Given the description of an element on the screen output the (x, y) to click on. 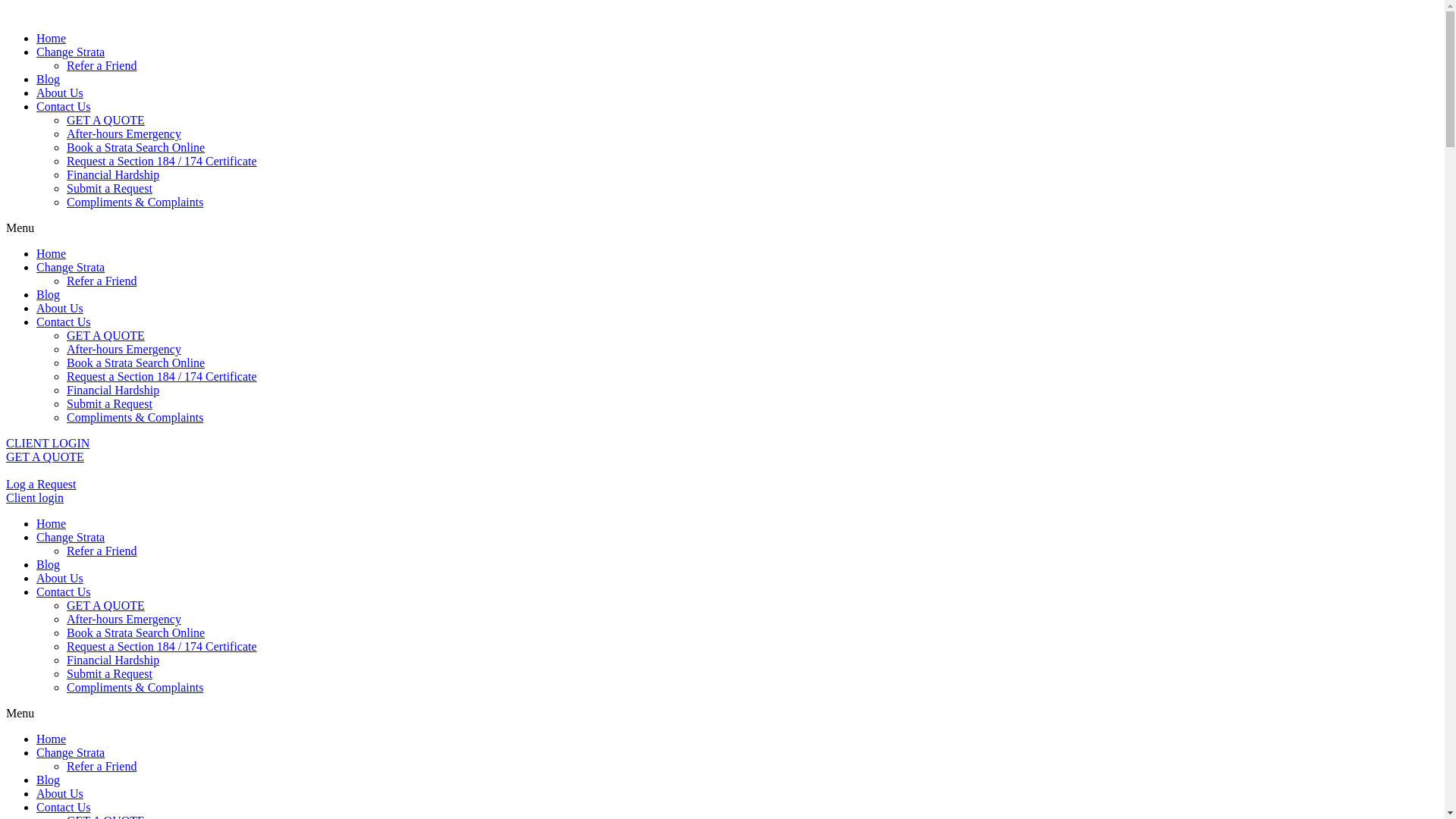
Request a Section 184 / 174 Certificate Element type: text (161, 376)
GET A QUOTE Element type: text (45, 456)
Change Strata Element type: text (70, 51)
Change Strata Element type: text (70, 752)
After-hours Emergency Element type: text (123, 618)
Contact Us Element type: text (63, 806)
GET A QUOTE Element type: text (105, 119)
Submit a Request Element type: text (109, 403)
Compliments & Complaints Element type: text (134, 201)
After-hours Emergency Element type: text (123, 348)
Contact Us Element type: text (63, 106)
Home Element type: text (50, 253)
Blog Element type: text (47, 294)
Home Element type: text (50, 37)
Submit a Request Element type: text (109, 188)
Book a Strata Search Online Element type: text (135, 362)
About Us Element type: text (59, 577)
Home Element type: text (50, 738)
Blog Element type: text (47, 779)
Log a Request Element type: text (40, 483)
About Us Element type: text (59, 307)
Book a Strata Search Online Element type: text (135, 632)
About Us Element type: text (59, 92)
Change Strata Element type: text (70, 536)
Financial Hardship Element type: text (112, 389)
Submit a Request Element type: text (109, 673)
Contact Us Element type: text (63, 591)
Refer a Friend Element type: text (101, 280)
Financial Hardship Element type: text (112, 174)
Blog Element type: text (47, 564)
Home Element type: text (50, 523)
Refer a Friend Element type: text (101, 550)
Compliments & Complaints Element type: text (134, 686)
Compliments & Complaints Element type: text (134, 417)
Client login Element type: text (34, 497)
GET A QUOTE Element type: text (105, 335)
Request a Section 184 / 174 Certificate Element type: text (161, 160)
Refer a Friend Element type: text (101, 65)
Financial Hardship Element type: text (112, 659)
Request a Section 184 / 174 Certificate Element type: text (161, 646)
Blog Element type: text (47, 78)
After-hours Emergency Element type: text (123, 133)
Change Strata Element type: text (70, 266)
GET A QUOTE Element type: text (105, 605)
About Us Element type: text (59, 793)
Contact Us Element type: text (63, 321)
CLIENT LOGIN Element type: text (47, 442)
Refer a Friend Element type: text (101, 765)
Book a Strata Search Online Element type: text (135, 147)
